Given the description of an element on the screen output the (x, y) to click on. 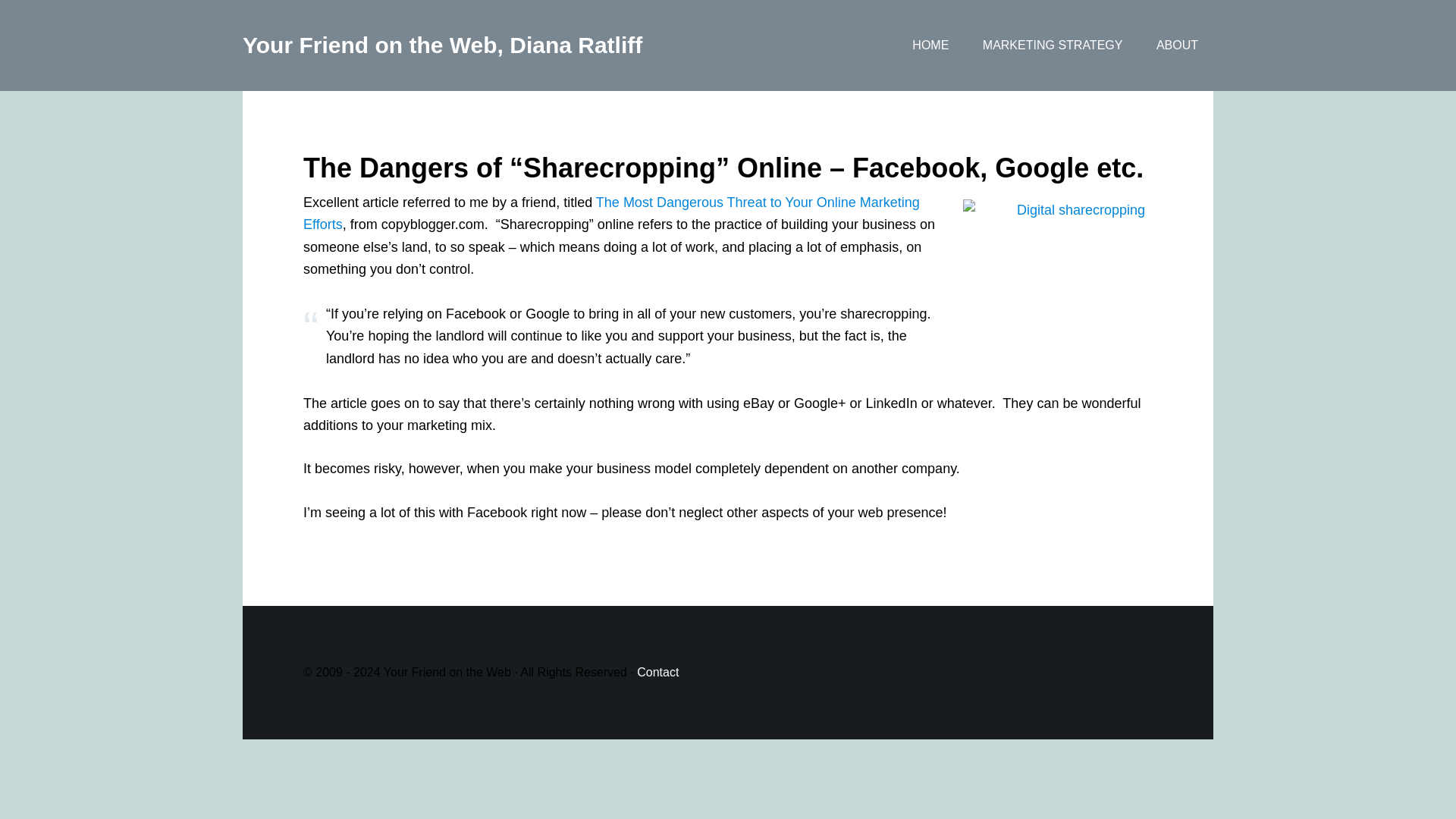
Your Friend on the Web, Diana Ratliff (442, 44)
MARKETING STRATEGY (1053, 45)
sharecropping (1053, 263)
Contact (657, 671)
The Most Dangerous Threat to Your Online Marketing Efforts (611, 212)
